Given the description of an element on the screen output the (x, y) to click on. 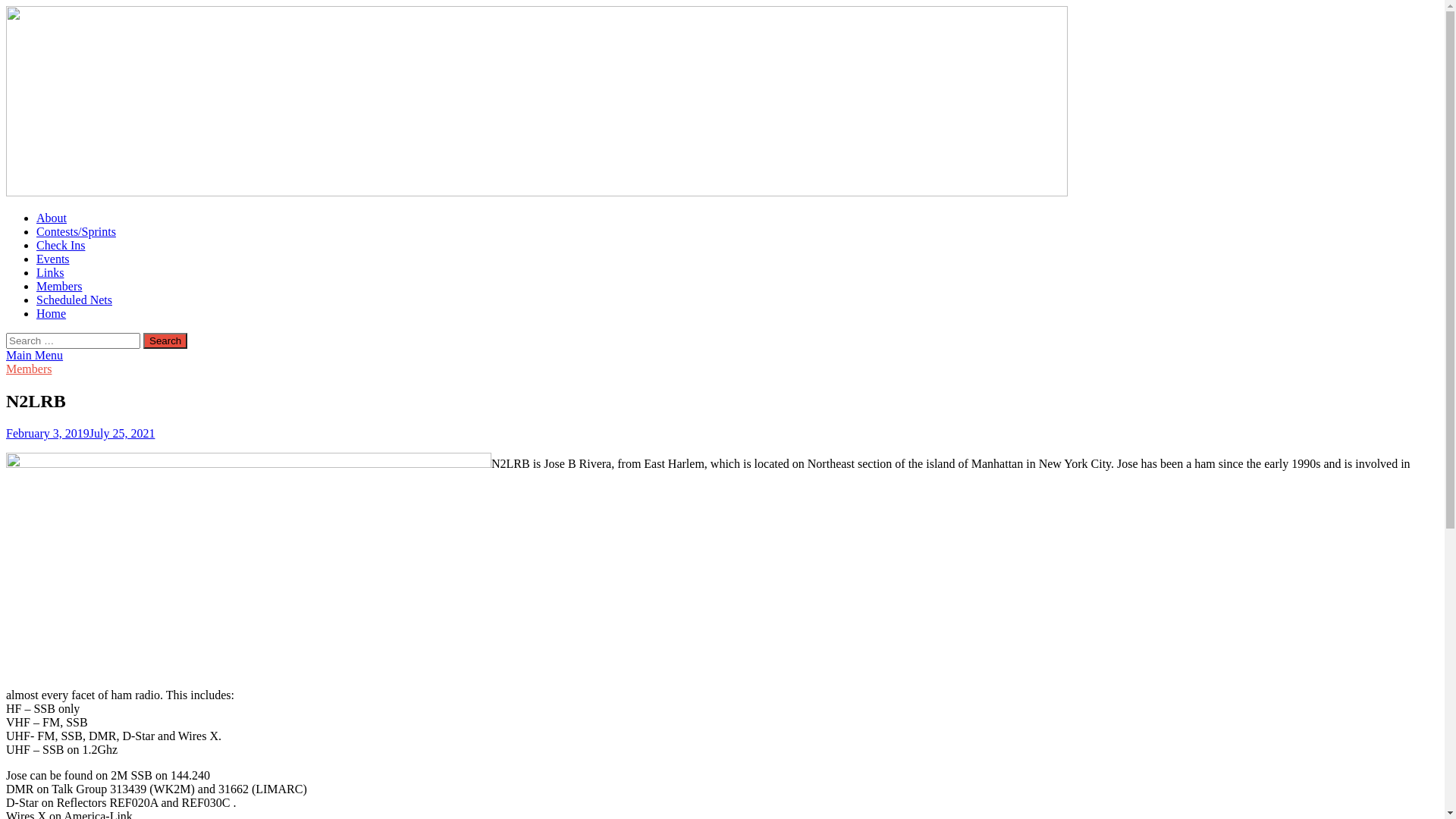
Check Ins Element type: text (60, 244)
Scheduled Nets Element type: text (74, 299)
2meternet.com Element type: hover (536, 191)
Events Element type: text (52, 258)
Search Element type: text (165, 340)
February 3, 2019July 25, 2021 Element type: text (80, 432)
Home Element type: text (50, 313)
Main Menu Element type: text (34, 354)
Contests/Sprints Element type: text (76, 231)
About Element type: text (51, 217)
Members Element type: text (28, 368)
Links Element type: text (49, 272)
Members Element type: text (58, 285)
Skip to content Element type: text (5, 5)
